Given the description of an element on the screen output the (x, y) to click on. 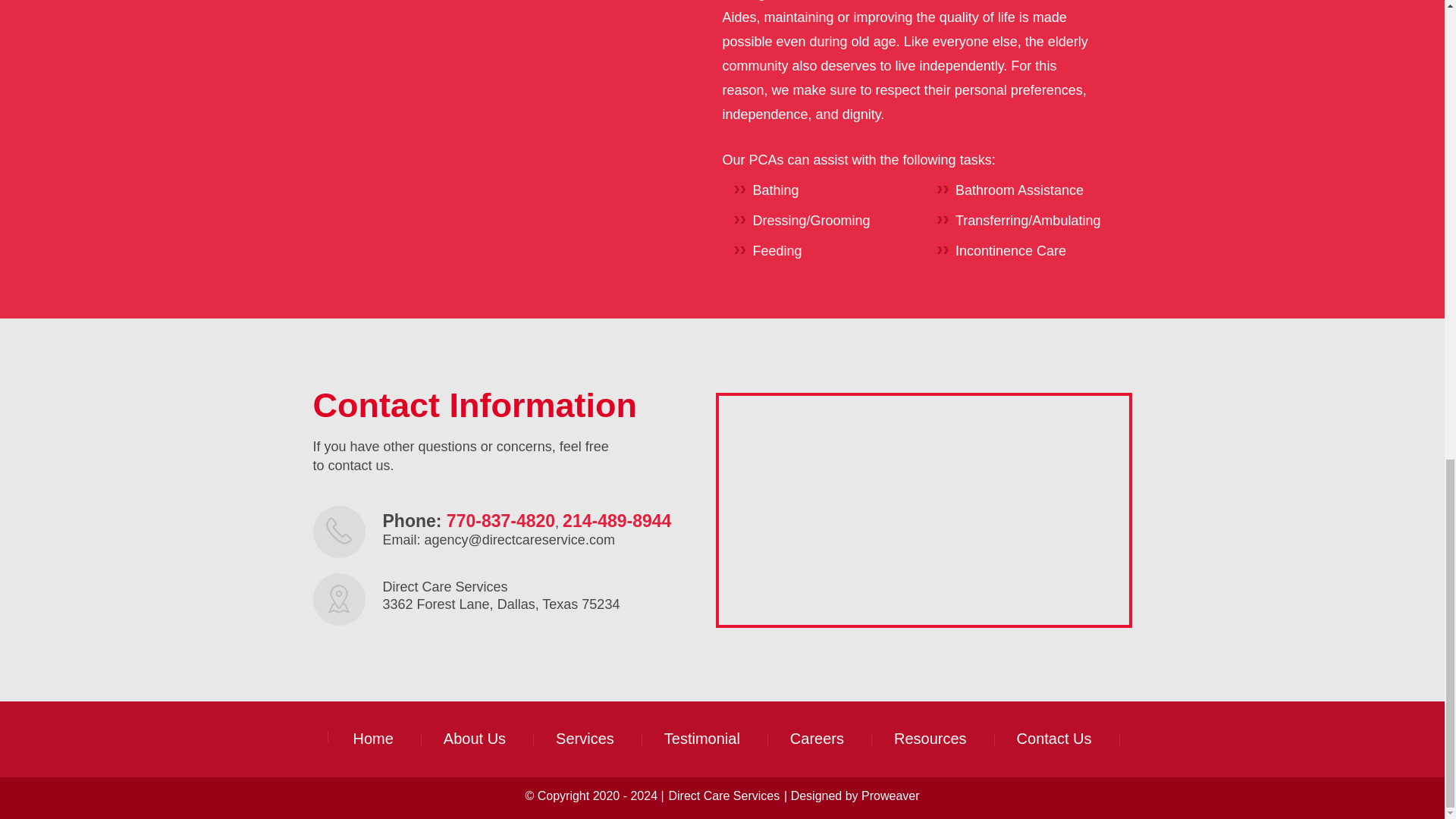
Resources (930, 738)
Careers (817, 738)
Contact Us (1053, 738)
About Us (475, 738)
Services (585, 738)
Proweaver (889, 795)
Testimonial (702, 738)
Home (372, 738)
